Given the description of an element on the screen output the (x, y) to click on. 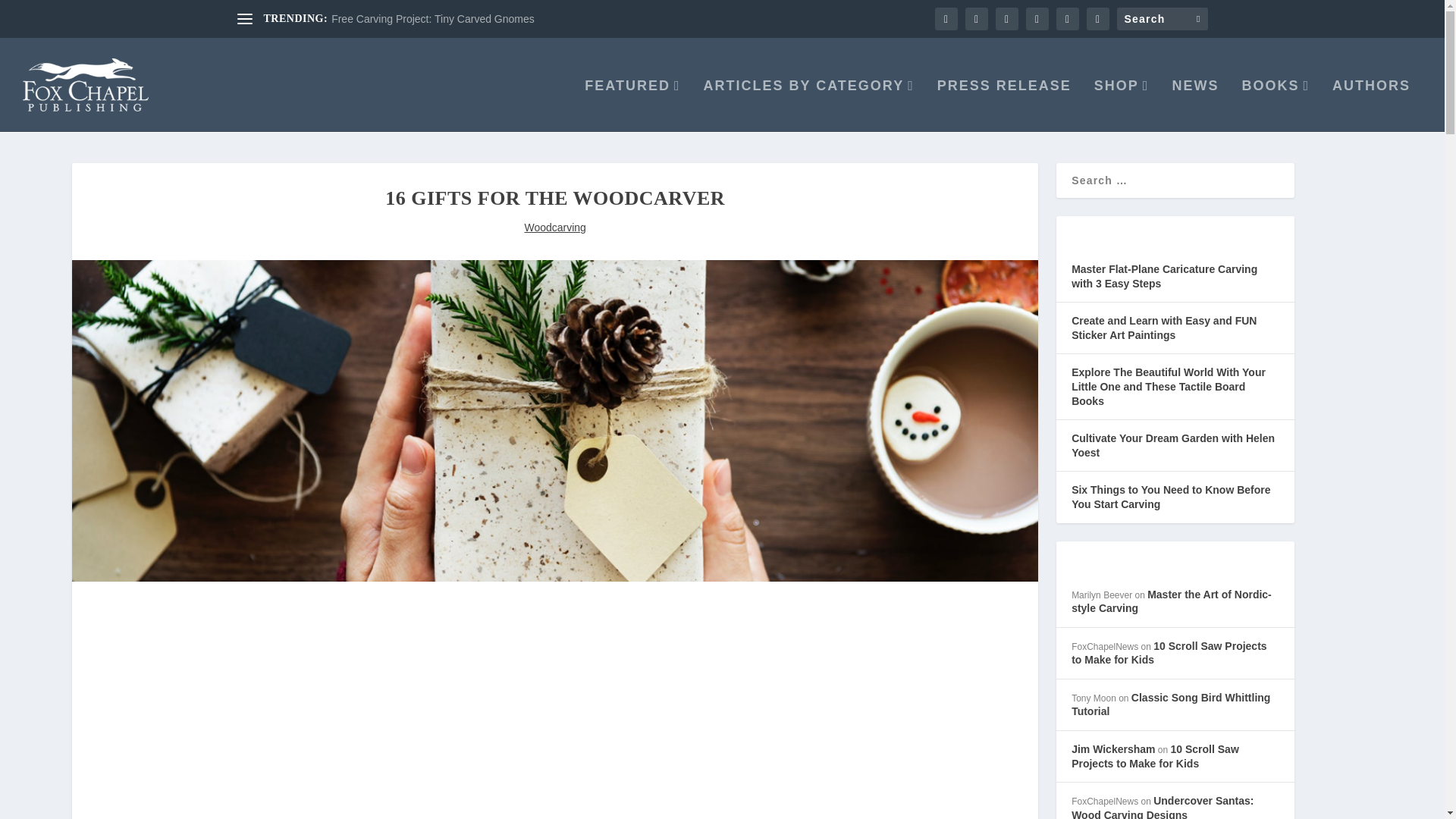
FEATURED (632, 105)
ARTICLES BY CATEGORY (808, 105)
Search for: (1161, 18)
Free Carving Project: Tiny Carved Gnomes (432, 19)
